Given the description of an element on the screen output the (x, y) to click on. 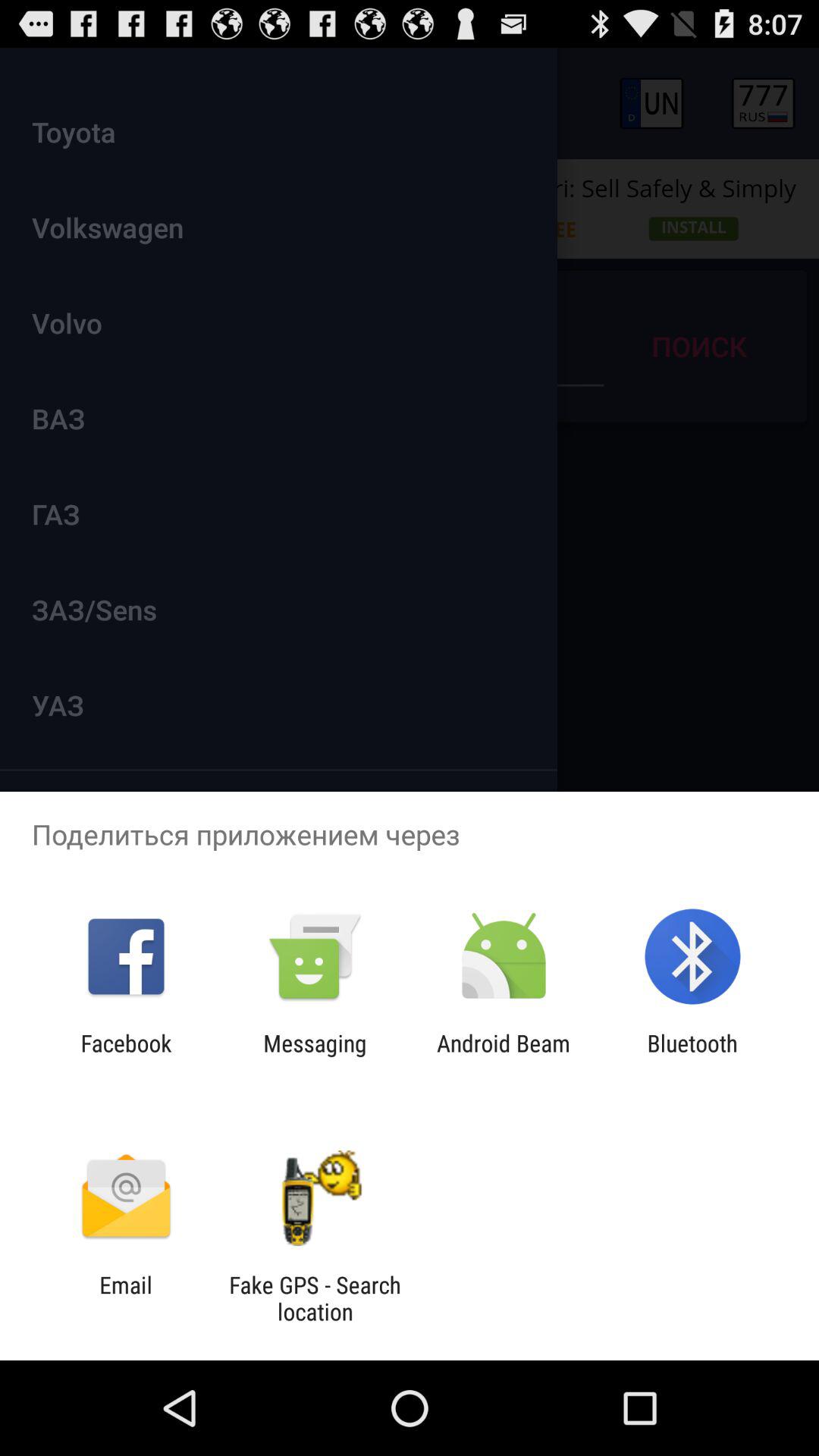
press the app next to bluetooth (503, 1056)
